Given the description of an element on the screen output the (x, y) to click on. 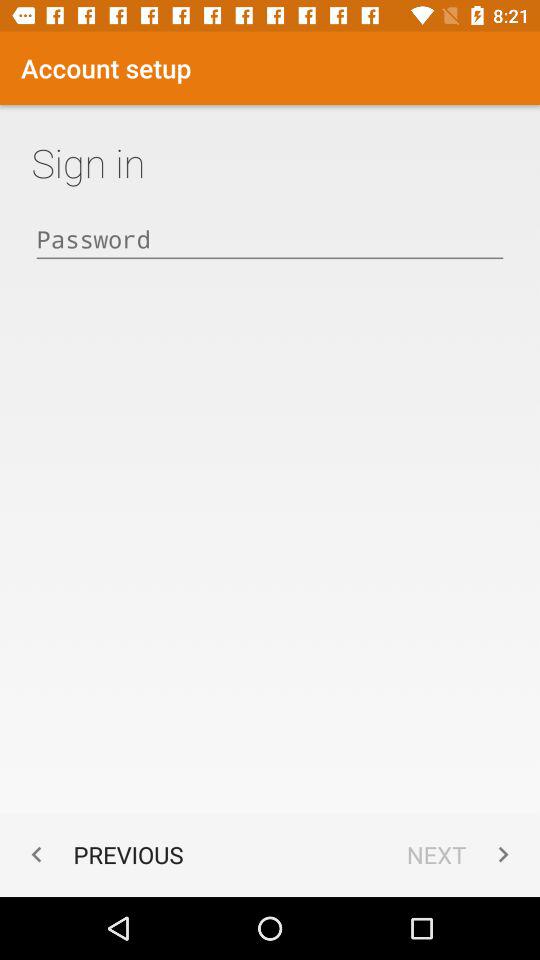
jump until next icon (462, 854)
